Given the description of an element on the screen output the (x, y) to click on. 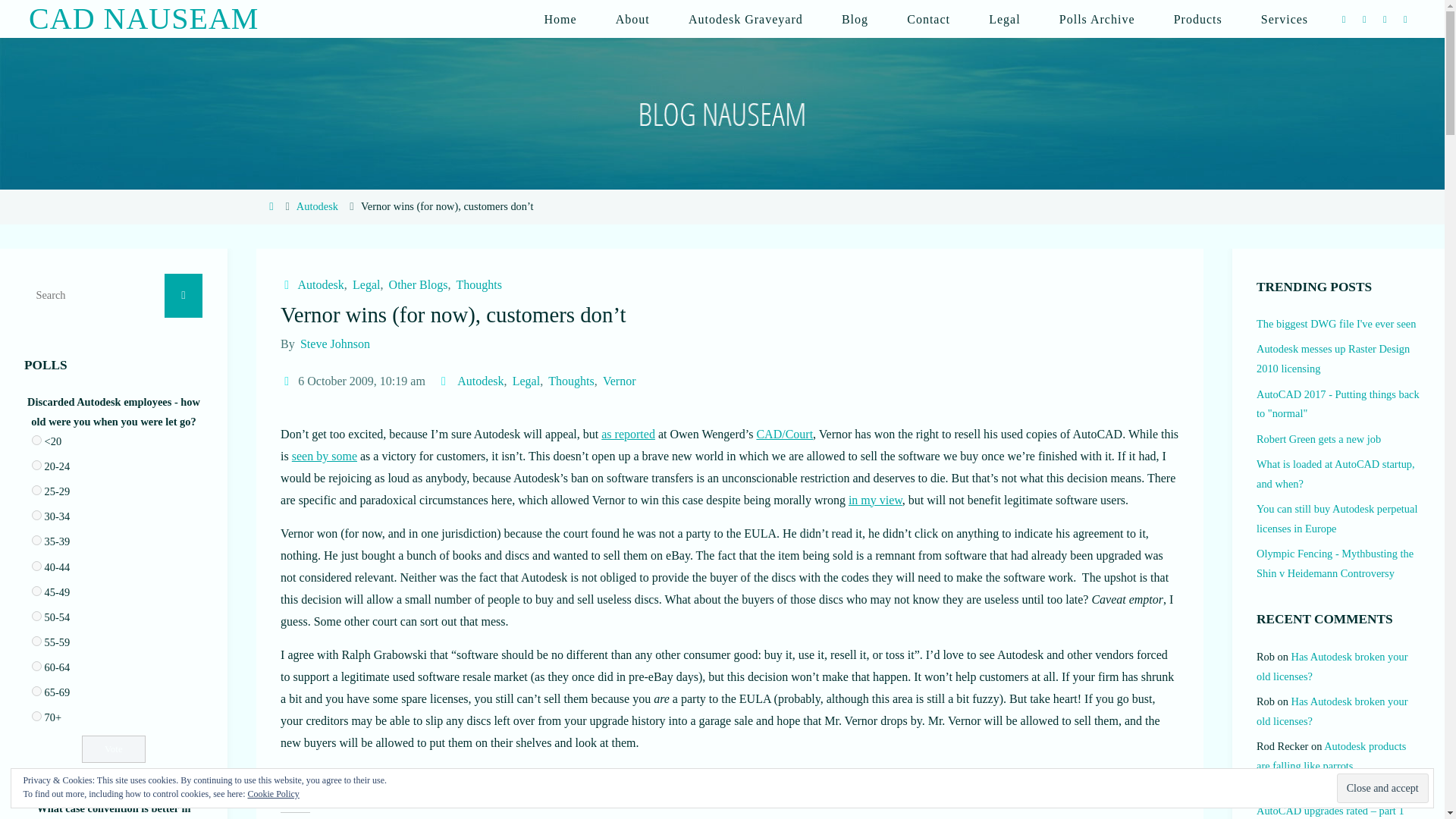
Date (288, 380)
654 (37, 665)
649 (37, 540)
About (631, 18)
651 (37, 591)
Polls Archive (1096, 18)
645 (37, 439)
647 (37, 490)
Home (559, 18)
Blog (854, 18)
Products (1197, 18)
Contact (928, 18)
655 (37, 691)
648 (37, 515)
   Vote    (113, 748)
